Given the description of an element on the screen output the (x, y) to click on. 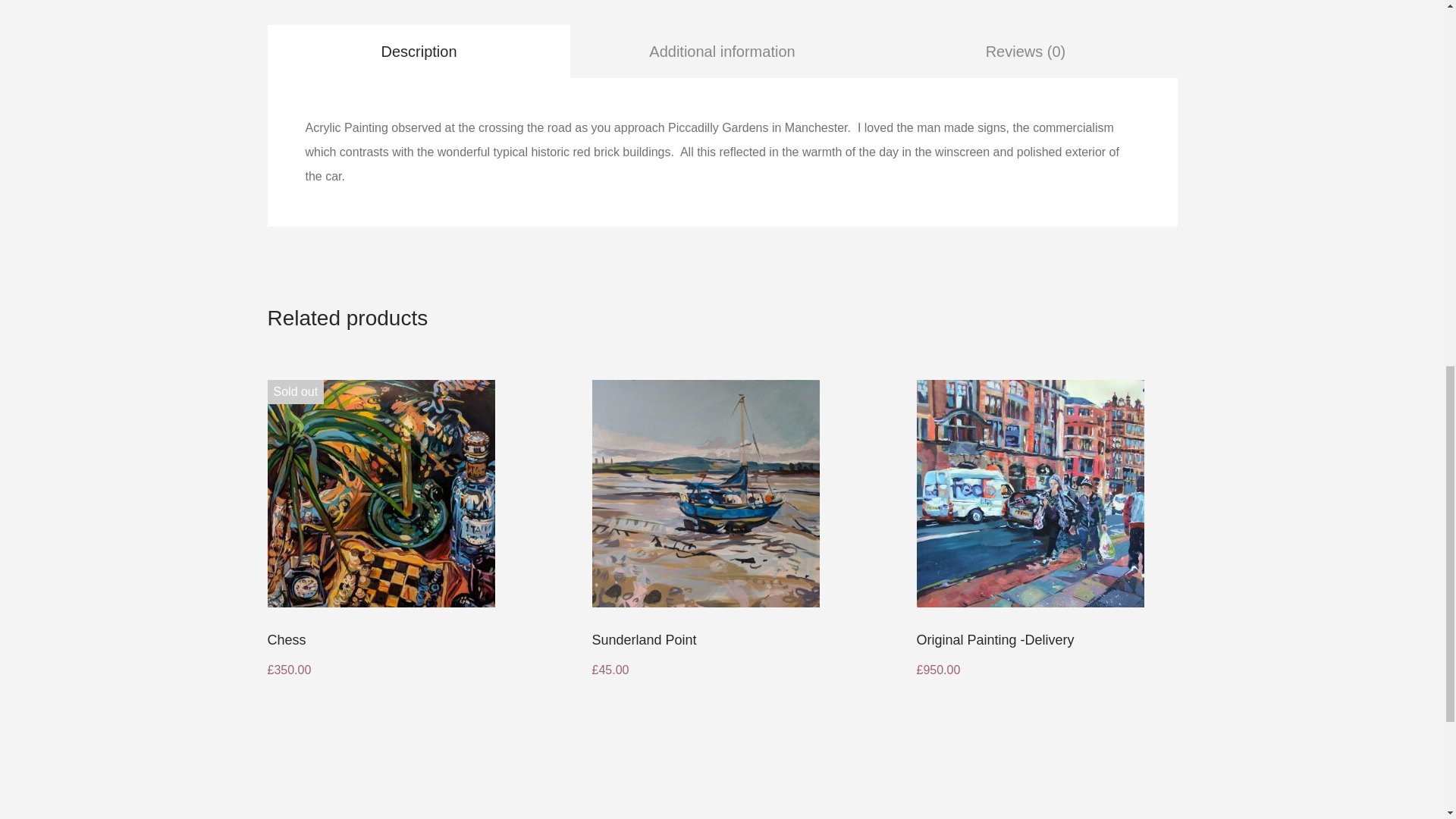
Description (419, 51)
Additional information (720, 51)
